Given the description of an element on the screen output the (x, y) to click on. 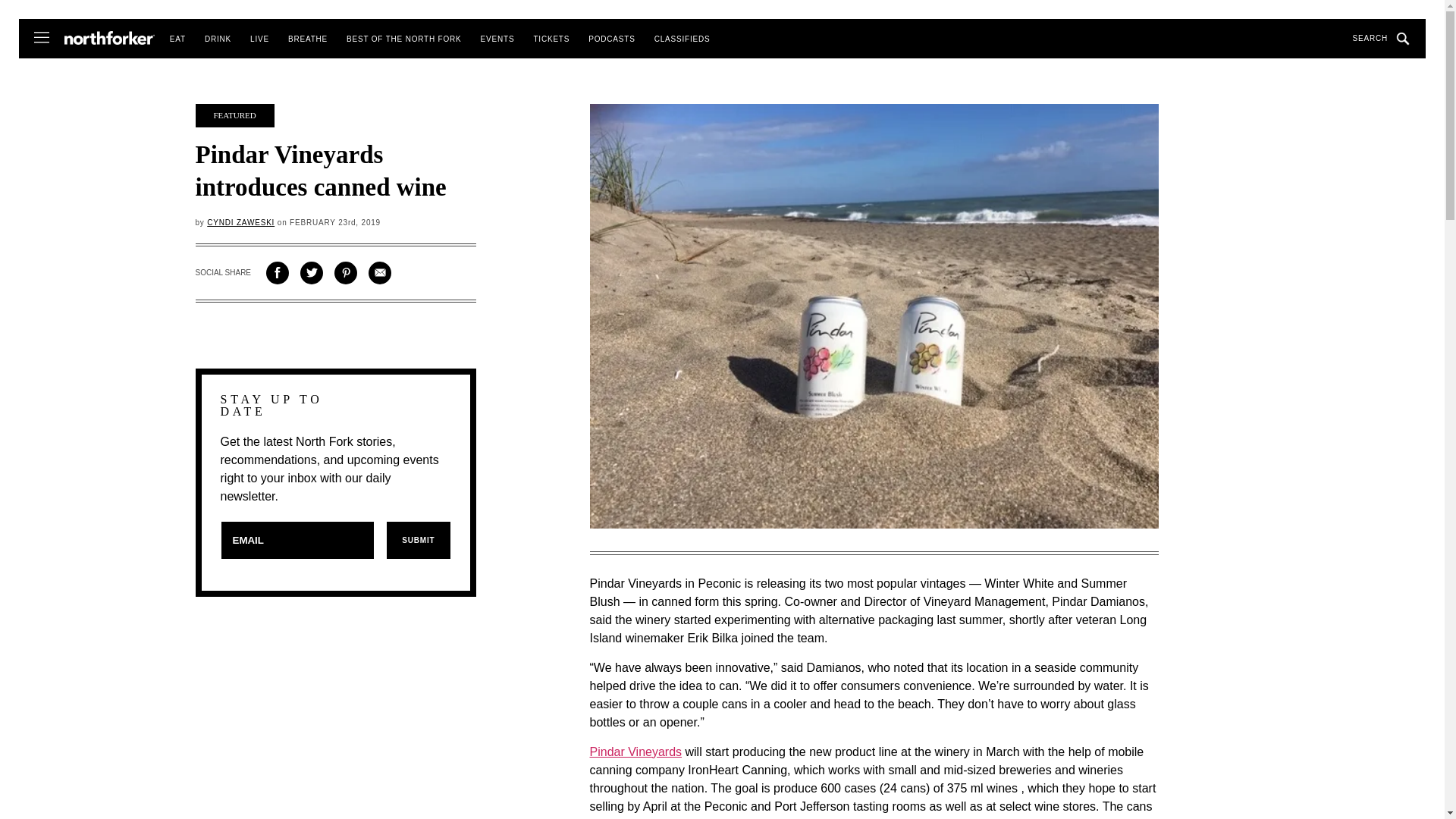
BEST OF THE NORTH FORK (403, 39)
DRINK (218, 39)
TICKETS (550, 39)
Share on Facebook. (277, 272)
PODCASTS (611, 39)
Share via email. (379, 272)
BREATHE (307, 39)
Share via pinterest. (345, 272)
LIVE (259, 39)
